Given the description of an element on the screen output the (x, y) to click on. 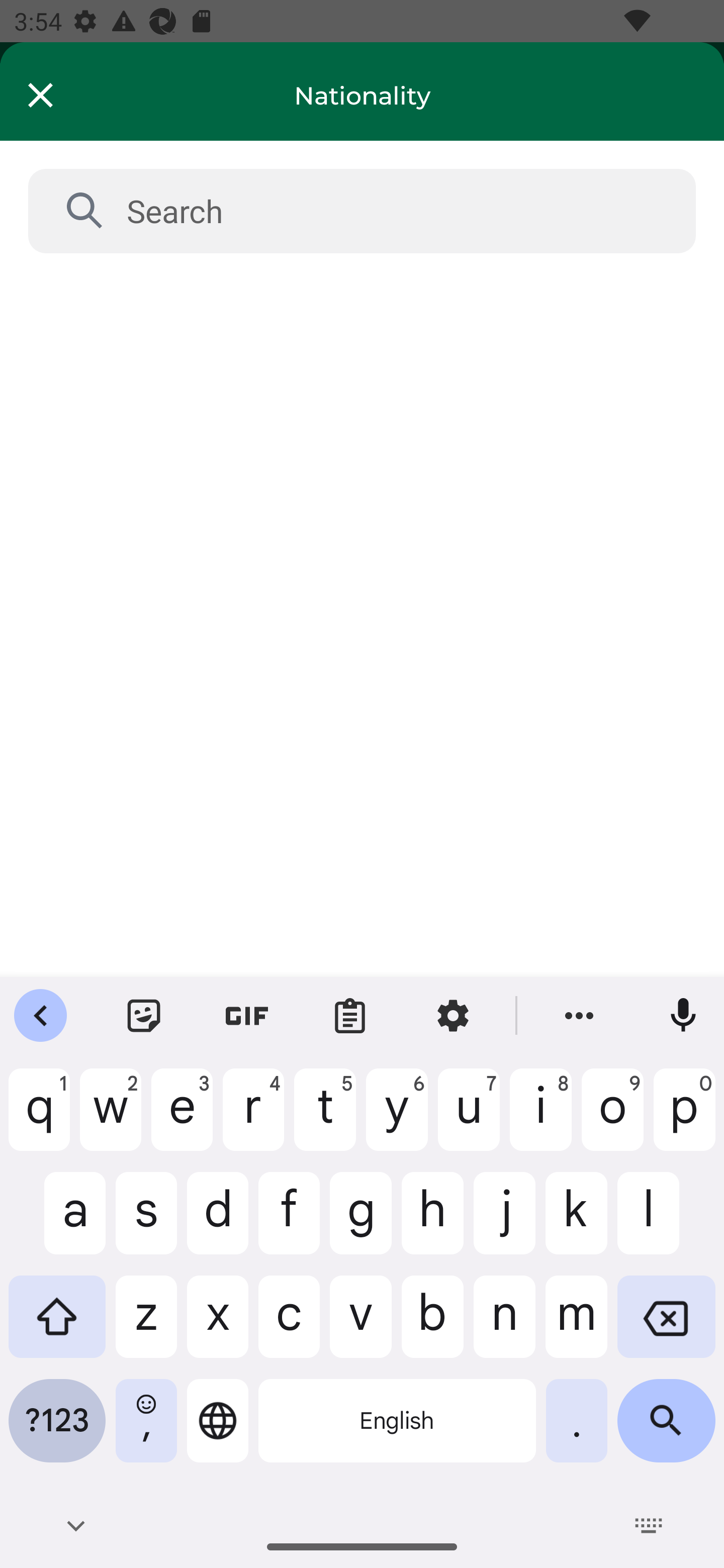
Search (397, 210)
